Given the description of an element on the screen output the (x, y) to click on. 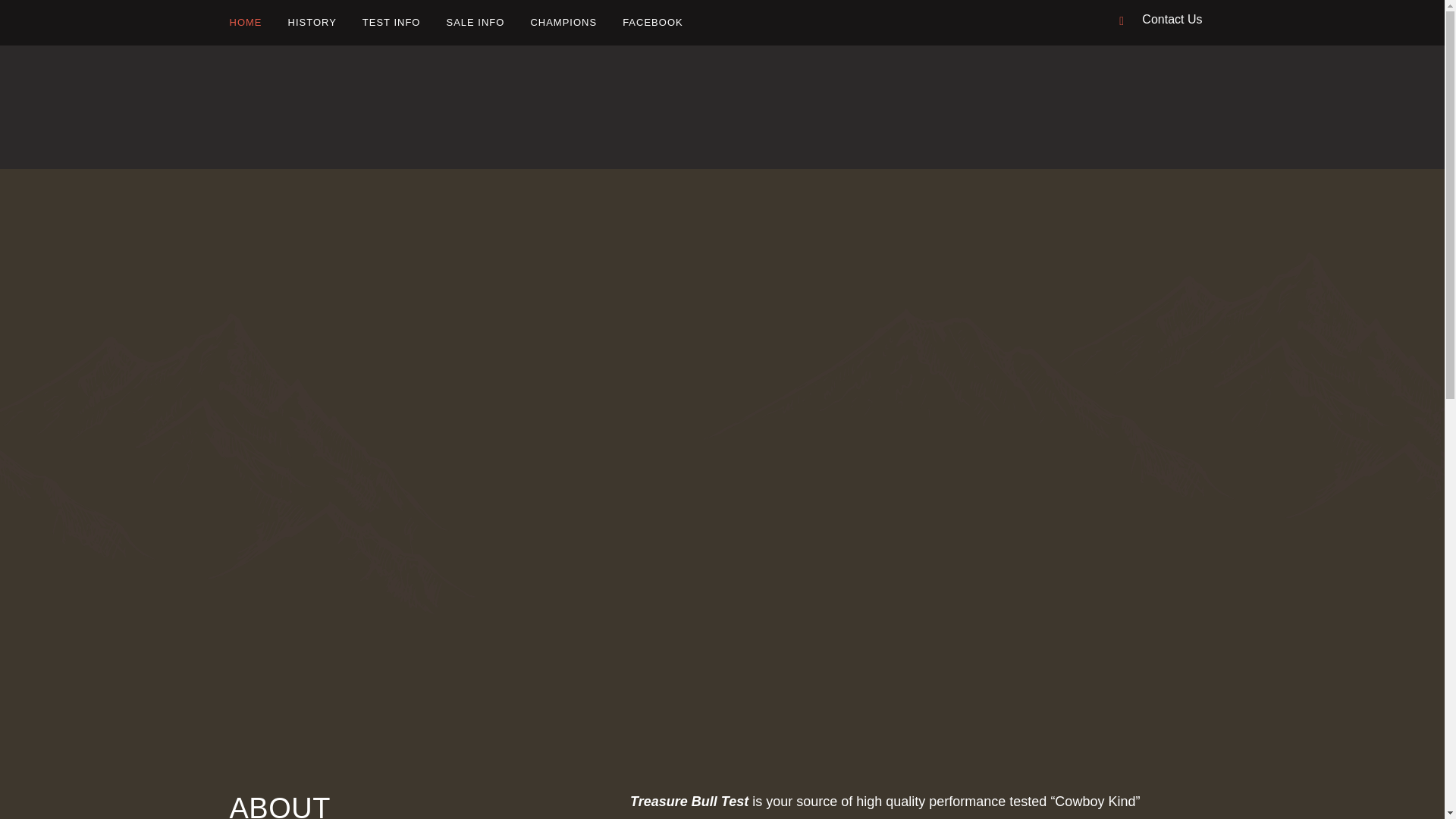
HISTORY (312, 22)
CHAMPIONS (563, 22)
TEST INFO (391, 22)
SALE INFO (474, 22)
HOME (251, 22)
FACEBOOK (652, 22)
Contact Us (1171, 19)
